Given the description of an element on the screen output the (x, y) to click on. 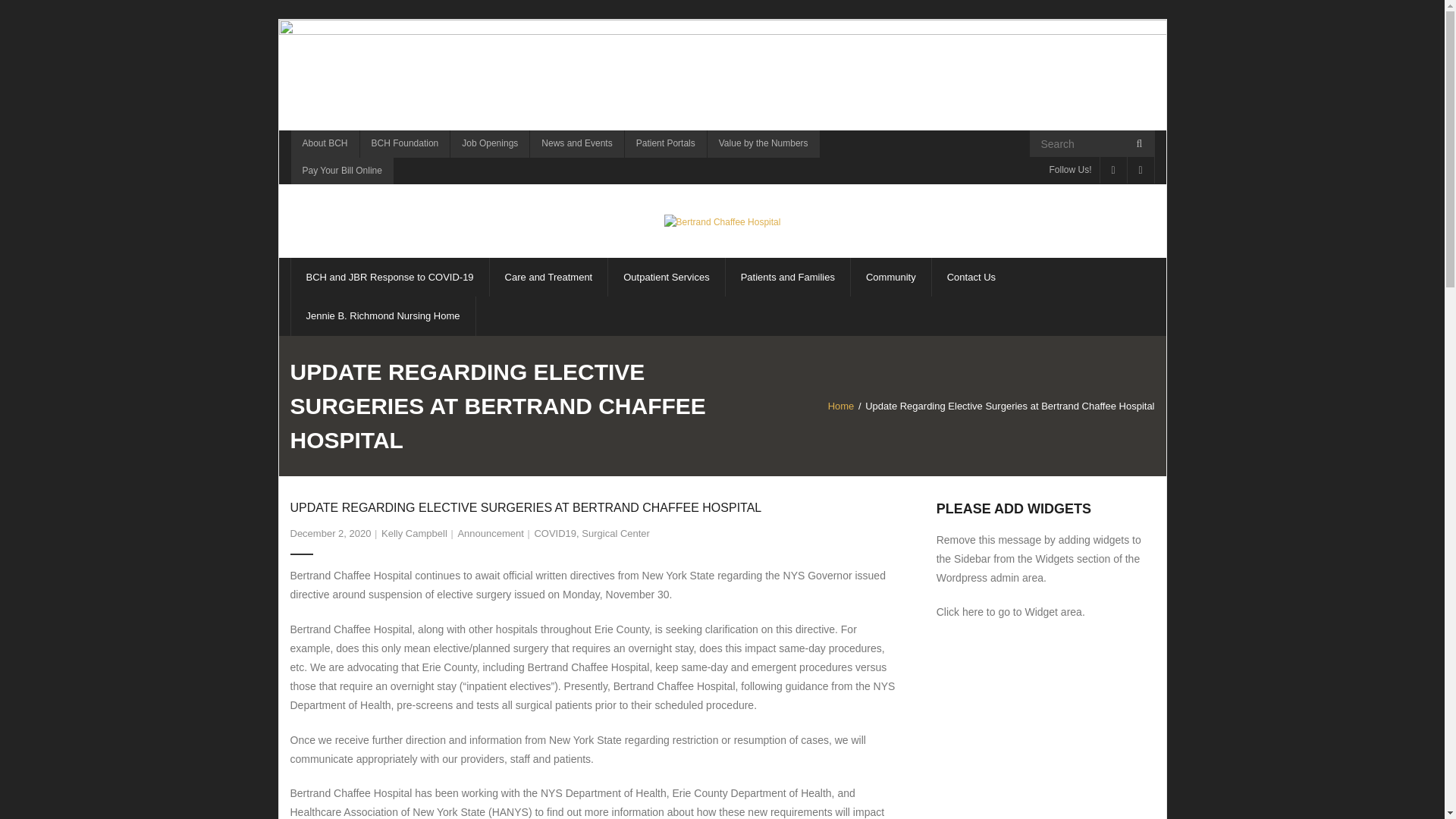
View all posts by Kelly Campbell (413, 532)
No Widgets Selected (1010, 612)
Patient Portals (665, 144)
Pay Your Bill Online (341, 171)
News and Events (576, 144)
BCH Foundation (404, 144)
Care and Treatment (548, 276)
Job Openings (489, 144)
Value by the Numbers (762, 144)
Search (35, 17)
BCH and JBR Response to COVID-19 (388, 276)
About BCH (323, 144)
